Given the description of an element on the screen output the (x, y) to click on. 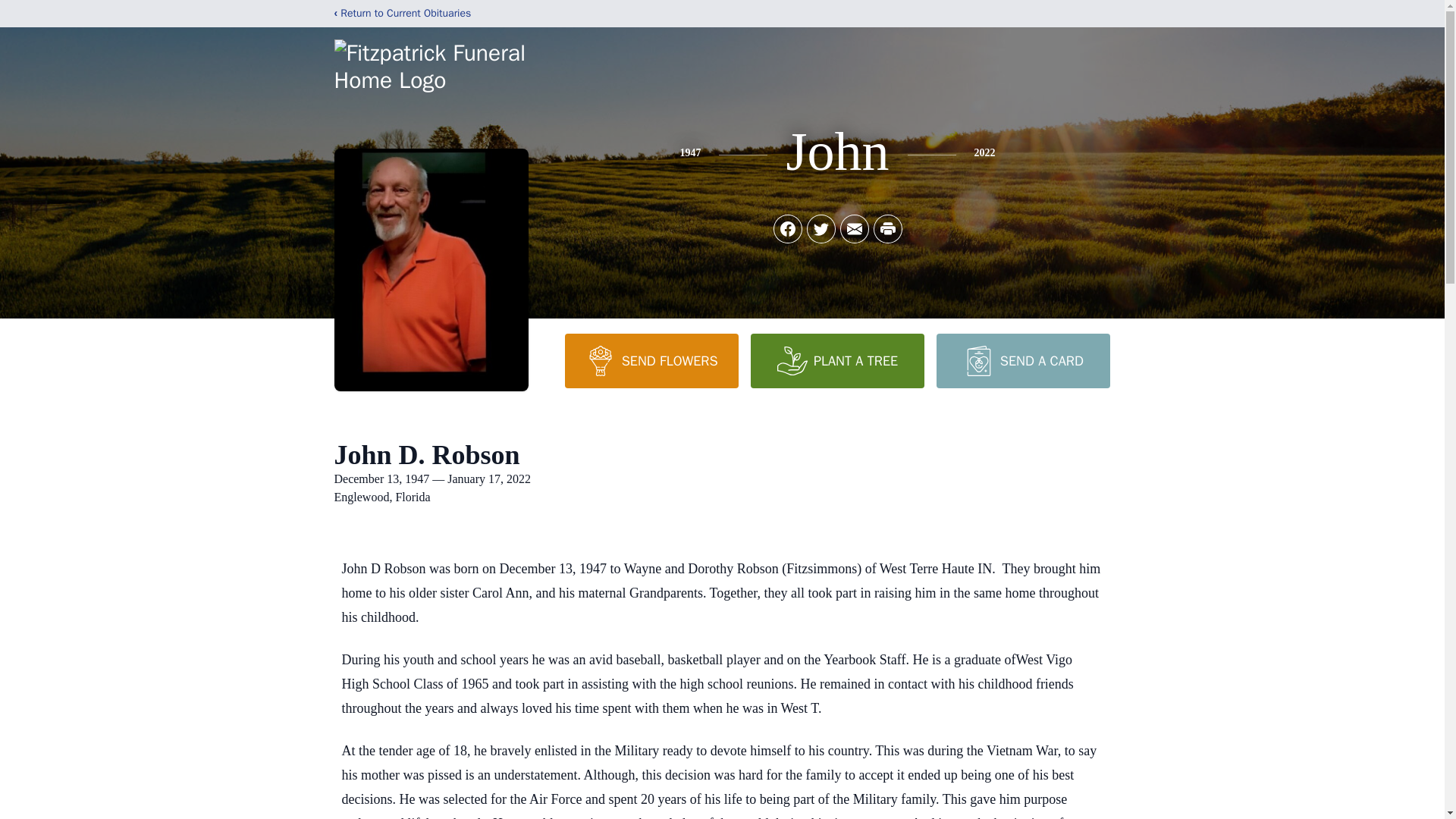
PLANT A TREE (837, 360)
SEND FLOWERS (651, 360)
SEND A CARD (1022, 360)
